Given the description of an element on the screen output the (x, y) to click on. 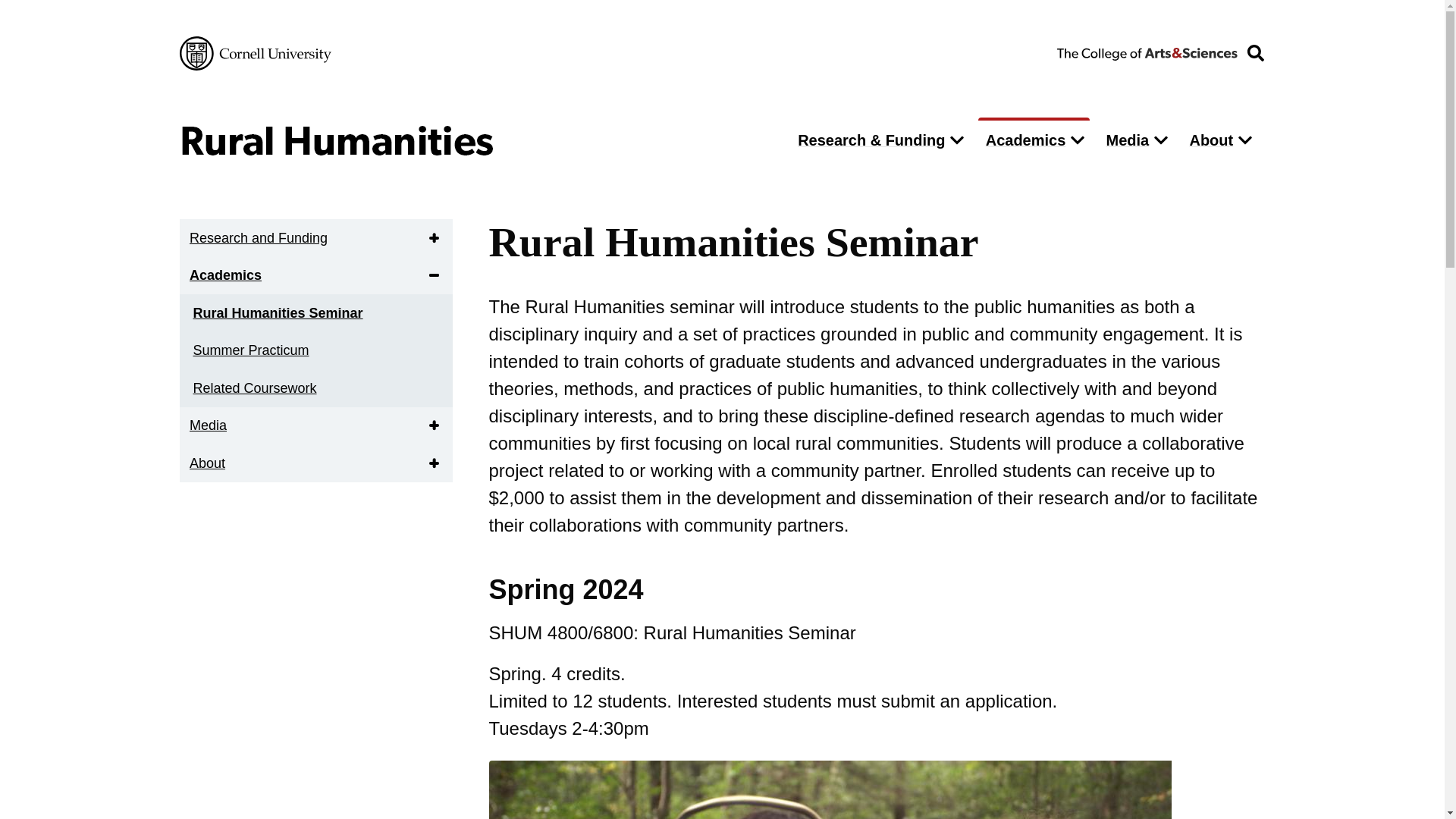
Media (1124, 139)
Cornell University (254, 53)
Cornell University (254, 53)
Open subnav (437, 275)
Department Homepage (475, 140)
Research and Funding (258, 238)
About (1206, 139)
College of Arts and Sciences (1146, 52)
Open search (1255, 53)
Academics (1021, 139)
Academics (224, 275)
Search (975, 181)
Open subnav (437, 237)
